Given the description of an element on the screen output the (x, y) to click on. 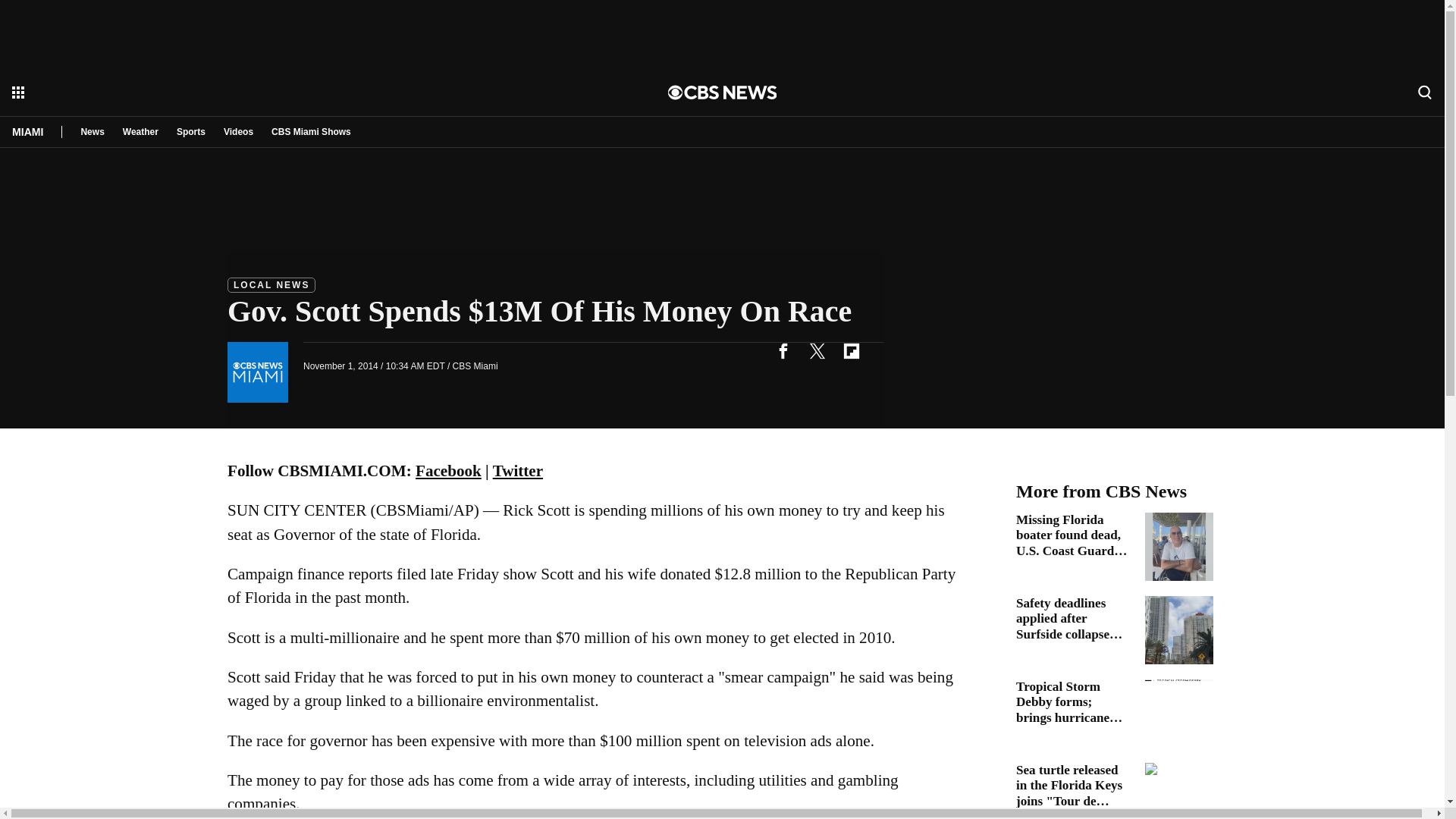
facebook (782, 350)
twitter (816, 350)
flipboard (850, 350)
